Given the description of an element on the screen output the (x, y) to click on. 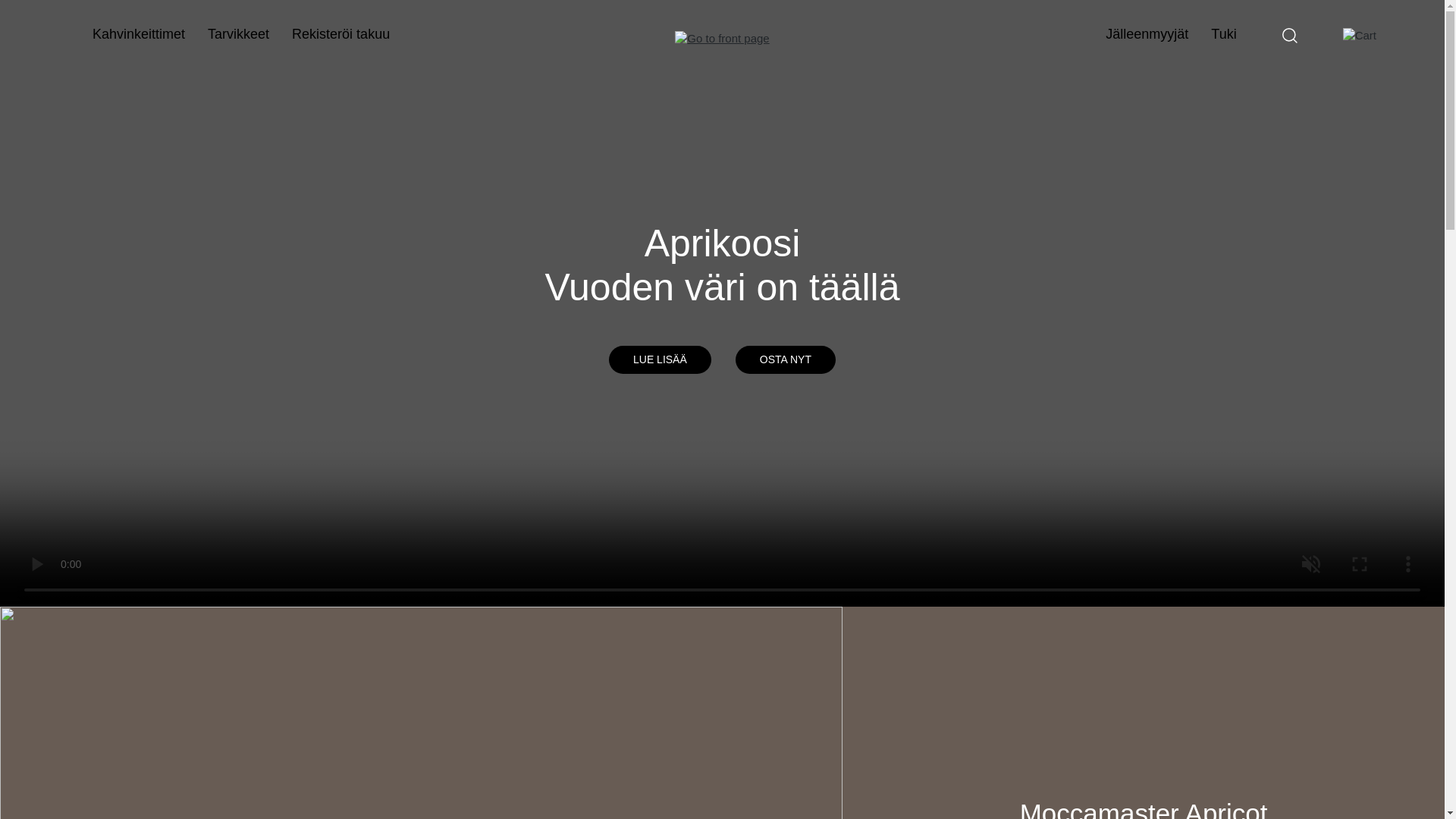
Tarvikkeet (238, 34)
Kahvinkeittimet (138, 34)
Tuki (1223, 34)
Tarvikkeet (238, 33)
Kahvinkeittimet (138, 33)
OSTA NYT (785, 359)
Tuki (1223, 33)
